Given the description of an element on the screen output the (x, y) to click on. 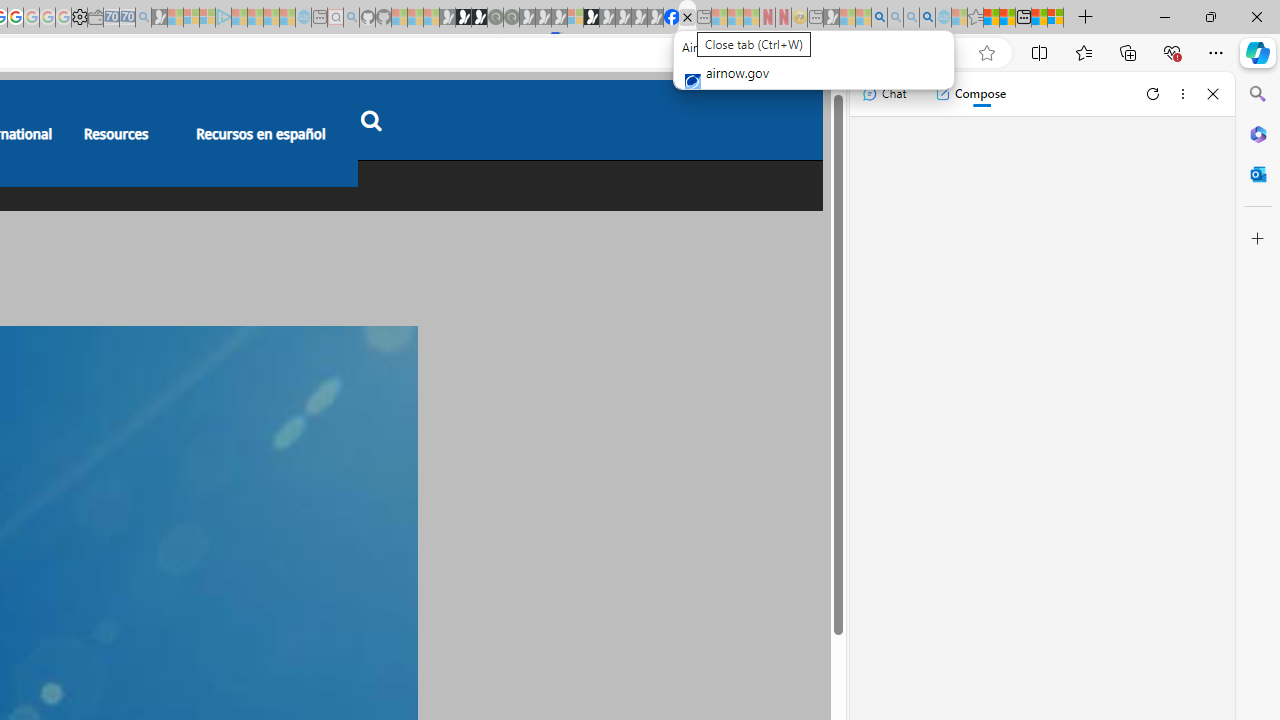
Google Chrome Internet Browser Download - Search Images (927, 17)
